Given the description of an element on the screen output the (x, y) to click on. 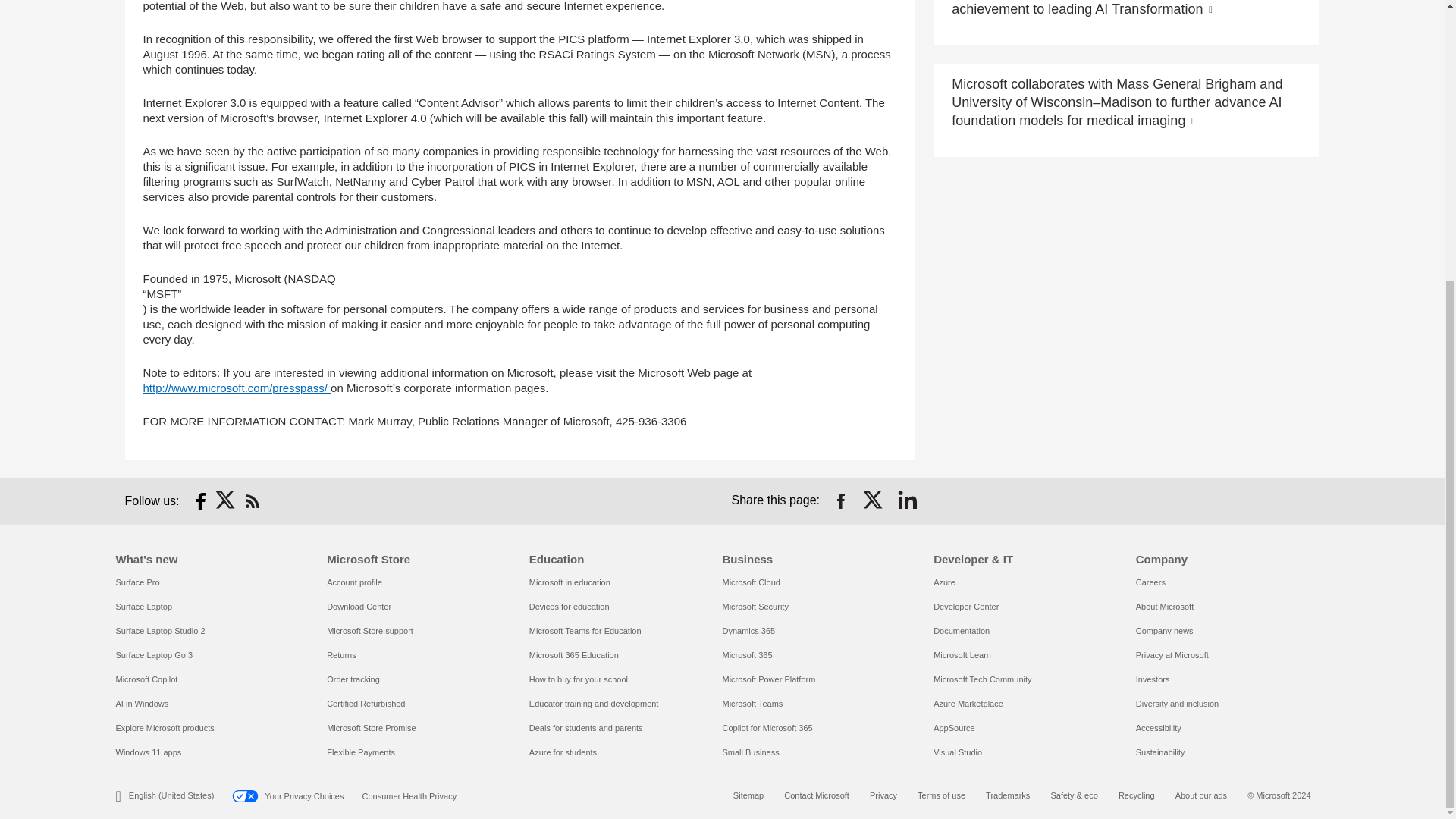
Share on Twitter (873, 500)
RSS Subscription (252, 500)
Share on Facebook (840, 500)
Share on LinkedIn (907, 500)
Follow on Facebook (200, 500)
Follow on Twitter (226, 500)
